Given the description of an element on the screen output the (x, y) to click on. 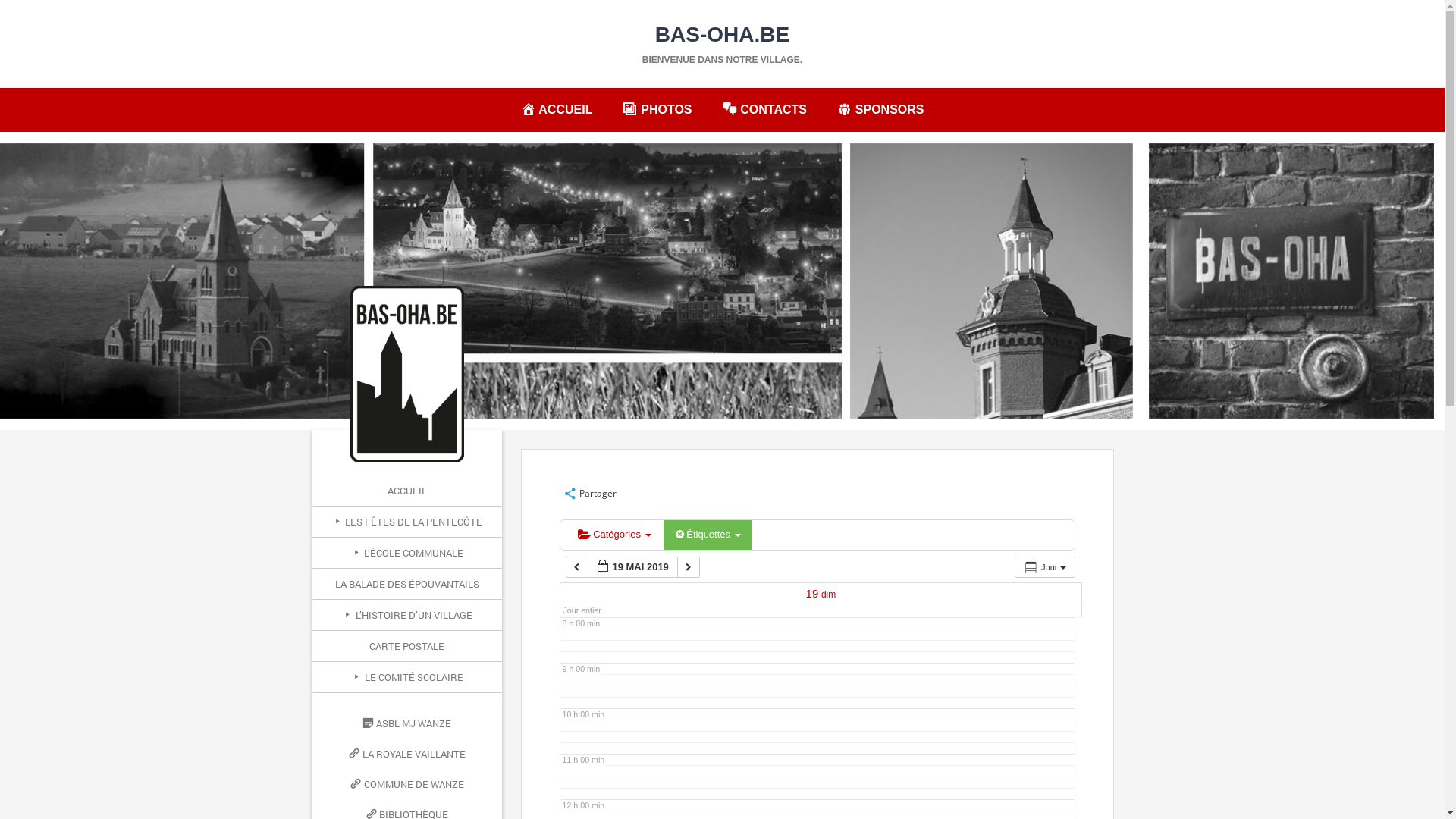
LA ROYALE VAILLANTE Element type: text (407, 753)
ACCUEIL Element type: text (556, 109)
ACCUEIL Element type: text (407, 490)
CONTACTS Element type: text (764, 109)
Rechercher Element type: text (32, 7)
19 dim Element type: text (821, 593)
ASBL MJ WANZE Element type: text (407, 723)
COMMUNE DE WANZE Element type: text (407, 783)
PHOTOS Element type: text (656, 109)
BAS-OHA.BE Element type: text (722, 34)
19 MAI 2019 Element type: text (631, 567)
CARTE POSTALE Element type: text (407, 645)
Jour Element type: text (1044, 567)
SPONSORS Element type: text (880, 109)
Partager Element type: text (590, 492)
